Given the description of an element on the screen output the (x, y) to click on. 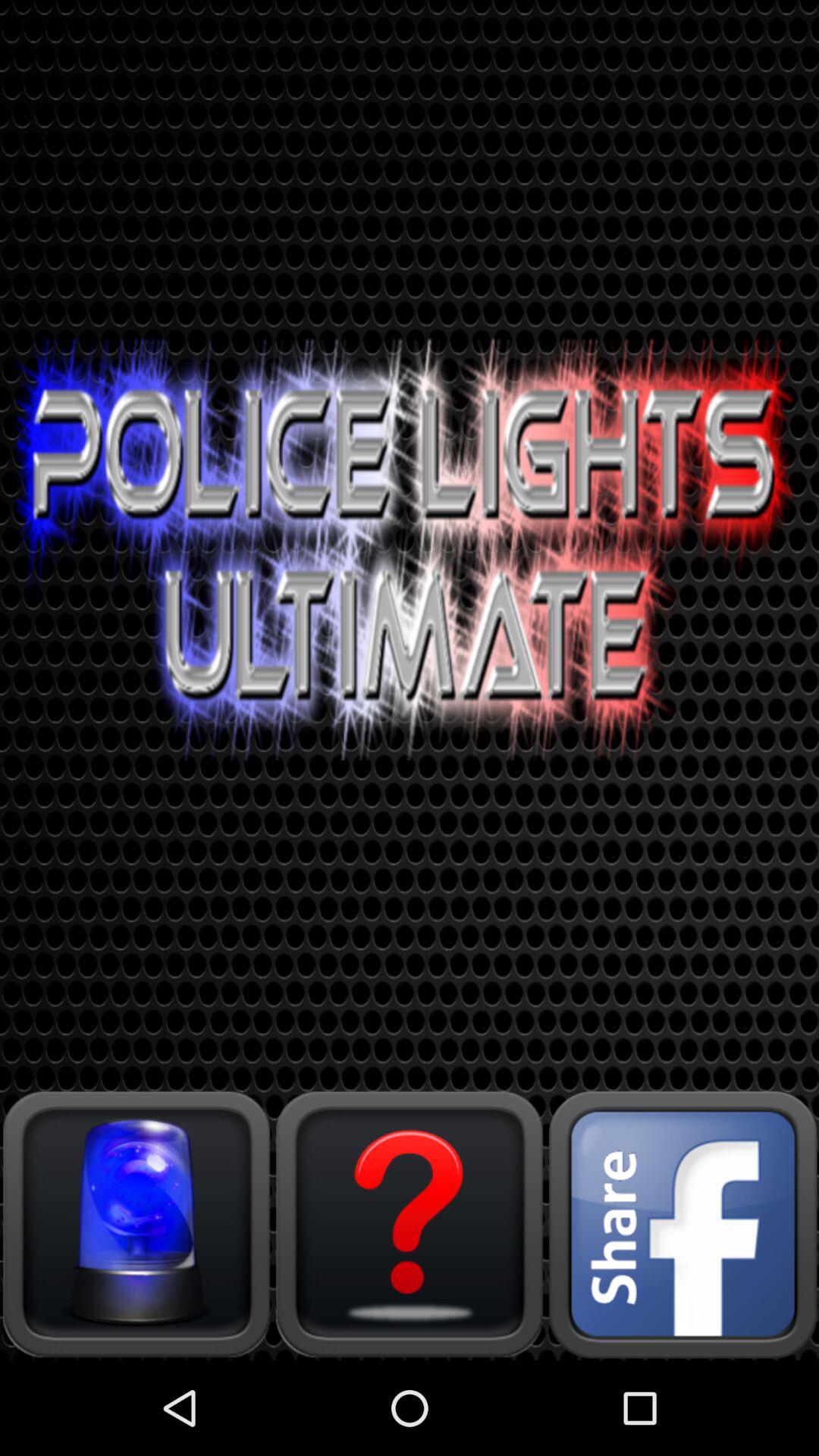
share facebook (682, 1223)
